Given the description of an element on the screen output the (x, y) to click on. 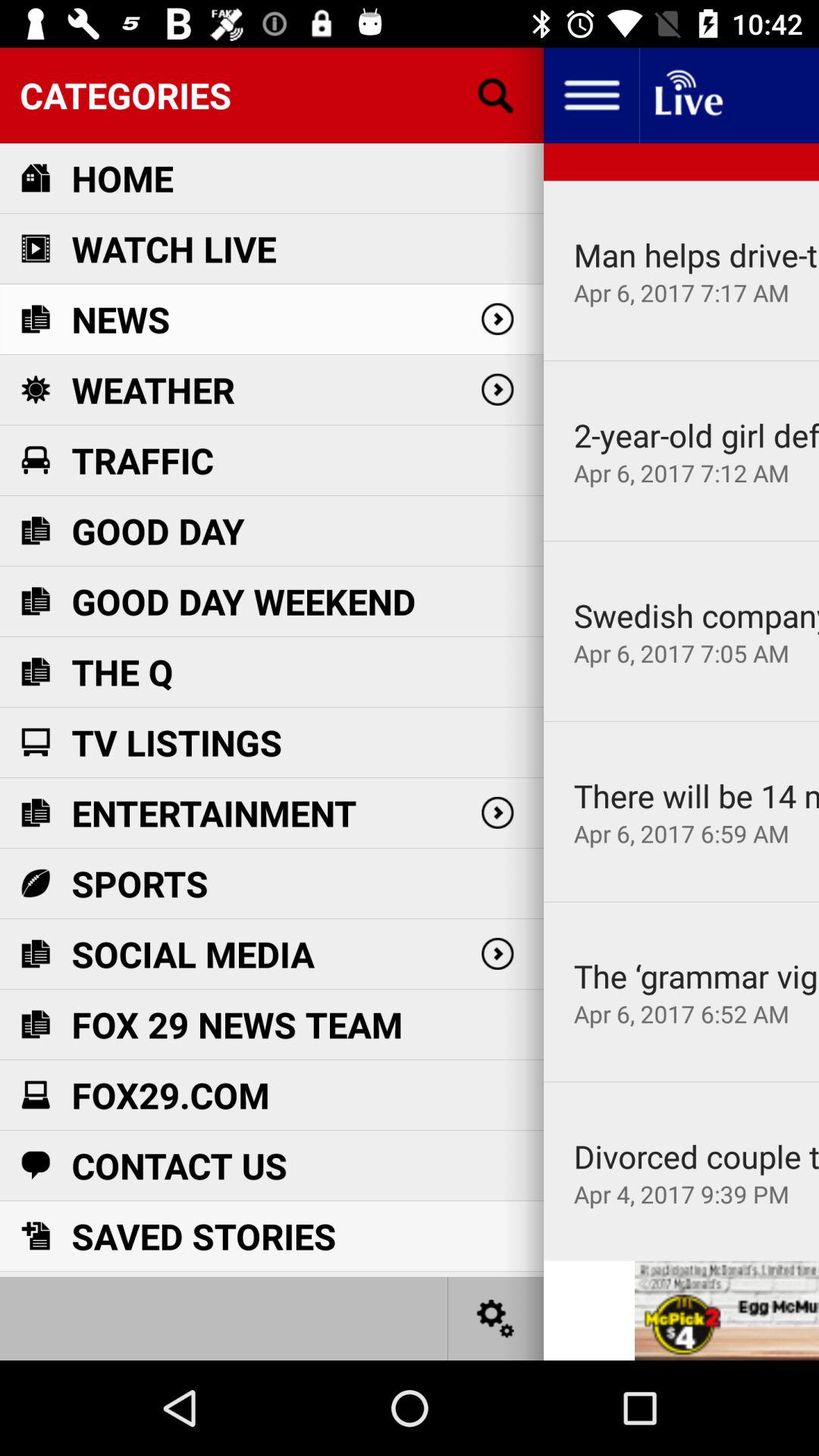
go to the advertised site (726, 1310)
